Given the description of an element on the screen output the (x, y) to click on. 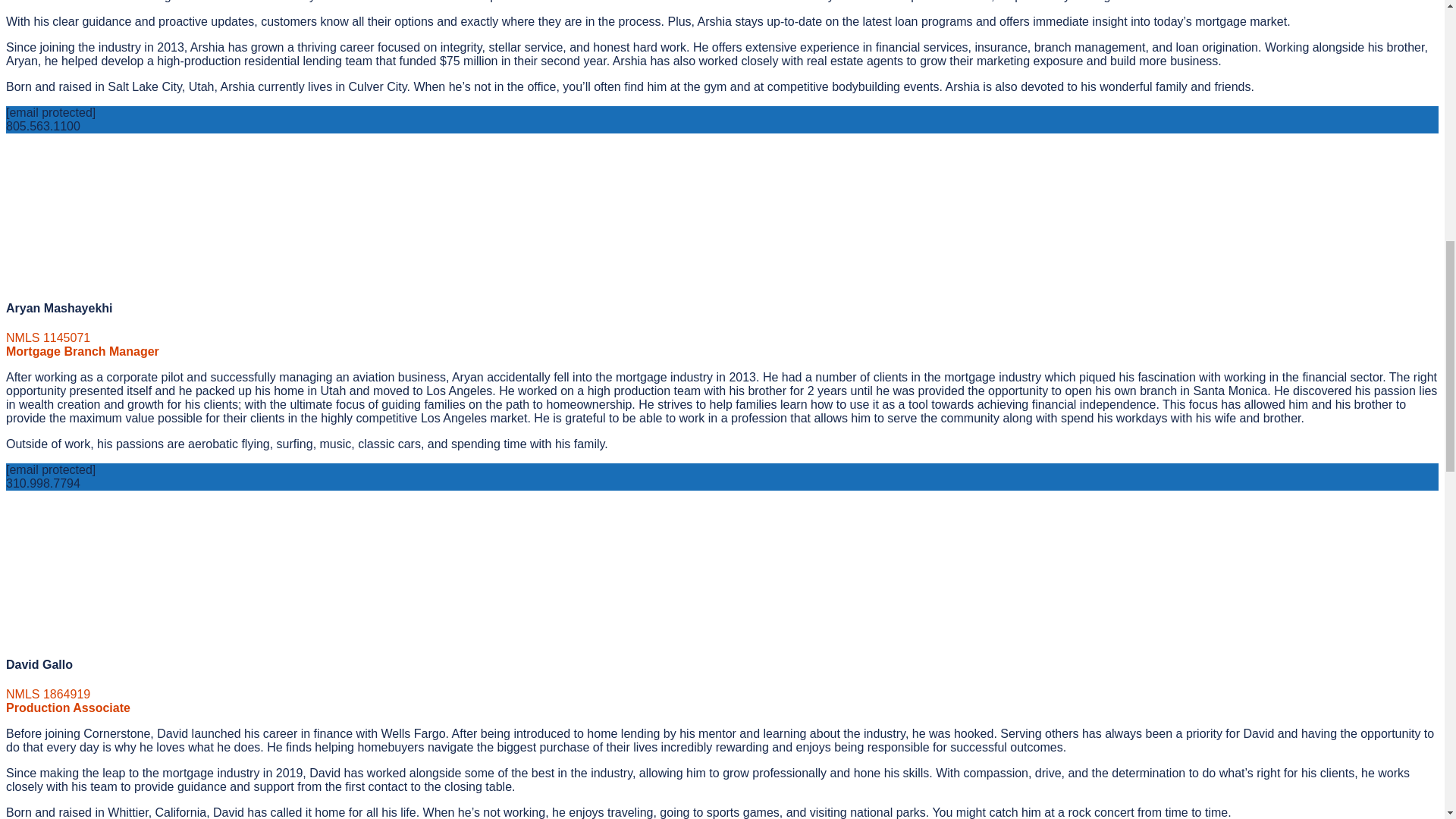
805.563.1100 (42, 125)
310.998.7794 (42, 482)
